Given the description of an element on the screen output the (x, y) to click on. 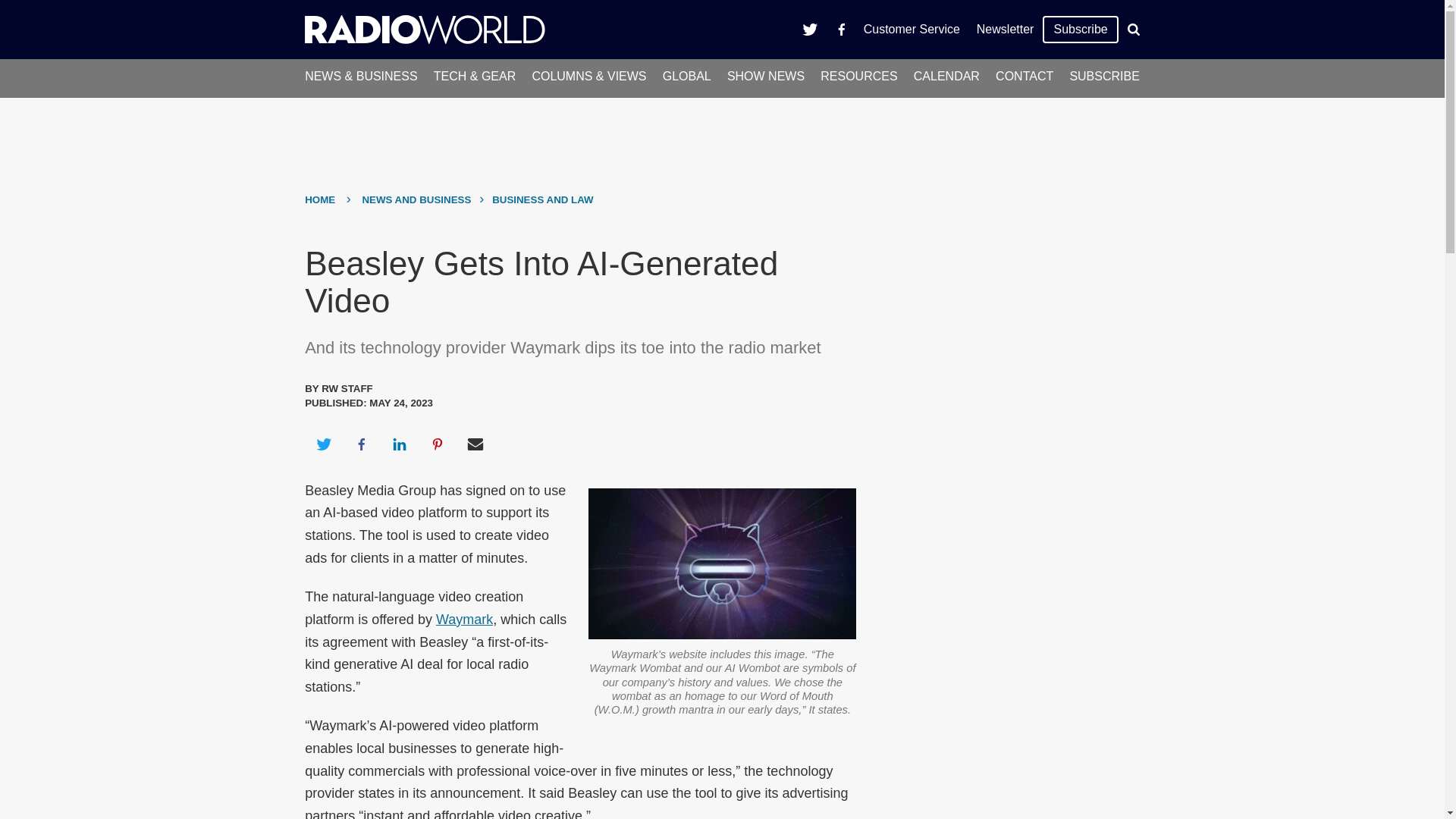
Share on Facebook (361, 444)
Share via Email (476, 444)
Customer Service (912, 29)
Share on Twitter (323, 444)
Share on LinkedIn (399, 444)
Share on Pinterest (438, 444)
